Given the description of an element on the screen output the (x, y) to click on. 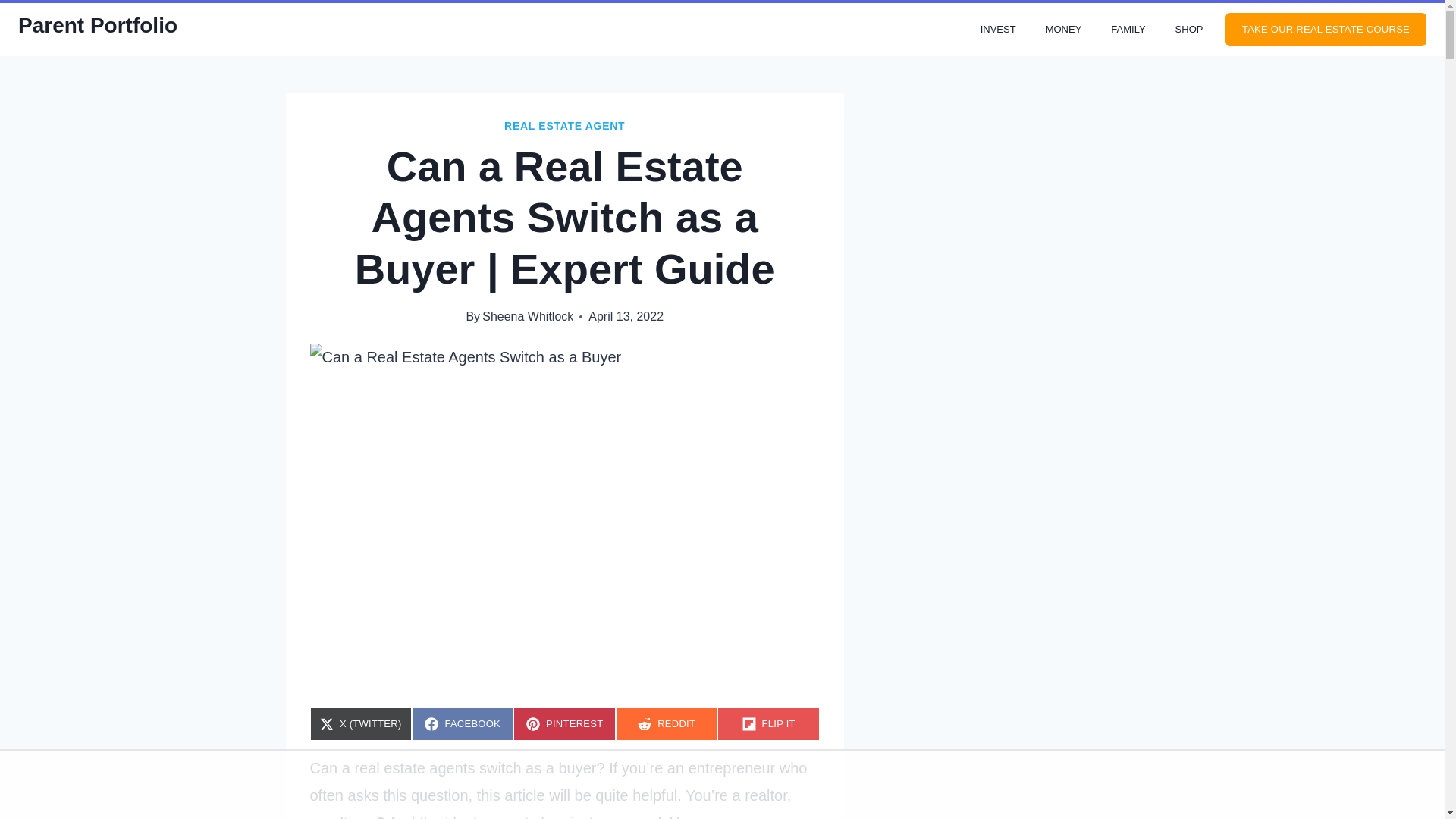
FAMILY (563, 724)
REAL ESTATE AGENT (1128, 30)
Sheena Whitlock (563, 125)
SHOP (666, 724)
MONEY (527, 316)
INVEST (1188, 30)
TAKE OUR REAL ESTATE COURSE (1063, 30)
Parent Portfolio (997, 30)
3rd party ad content (1325, 29)
3rd party ad content (97, 25)
